Given the description of an element on the screen output the (x, y) to click on. 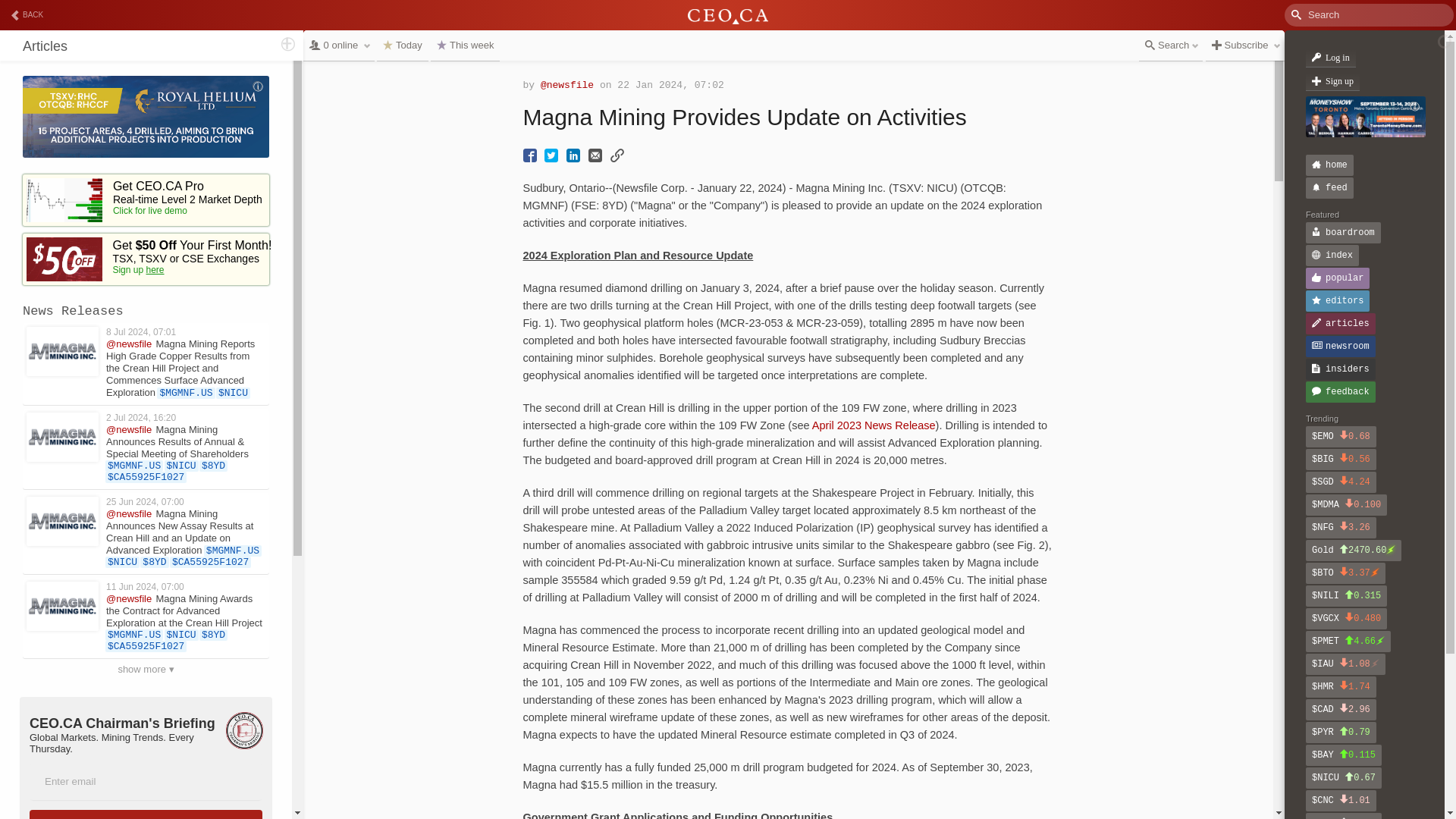
Above 2x average volume (1374, 663)
Above 4x average volume (1374, 572)
April 2023 News Release (874, 425)
Above 3x average volume (1379, 640)
Above 4x average volume (1390, 549)
Search (71, 10)
